Given the description of an element on the screen output the (x, y) to click on. 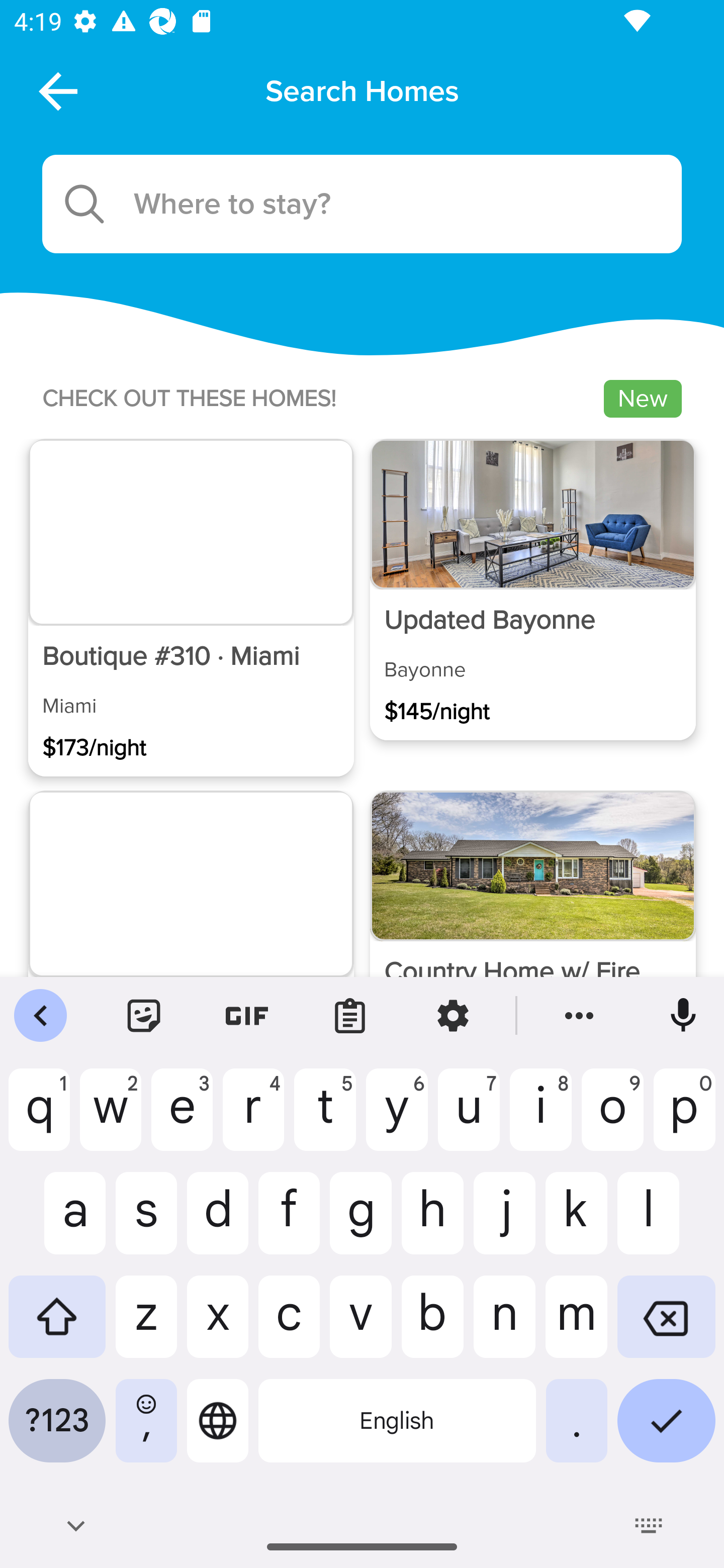
Icon close screen (55, 90)
Search icon Where to stay? (361, 204)
‍Country Home w/ Fire Pit: 40 Mi to Nashville! (532, 940)
